Given the description of an element on the screen output the (x, y) to click on. 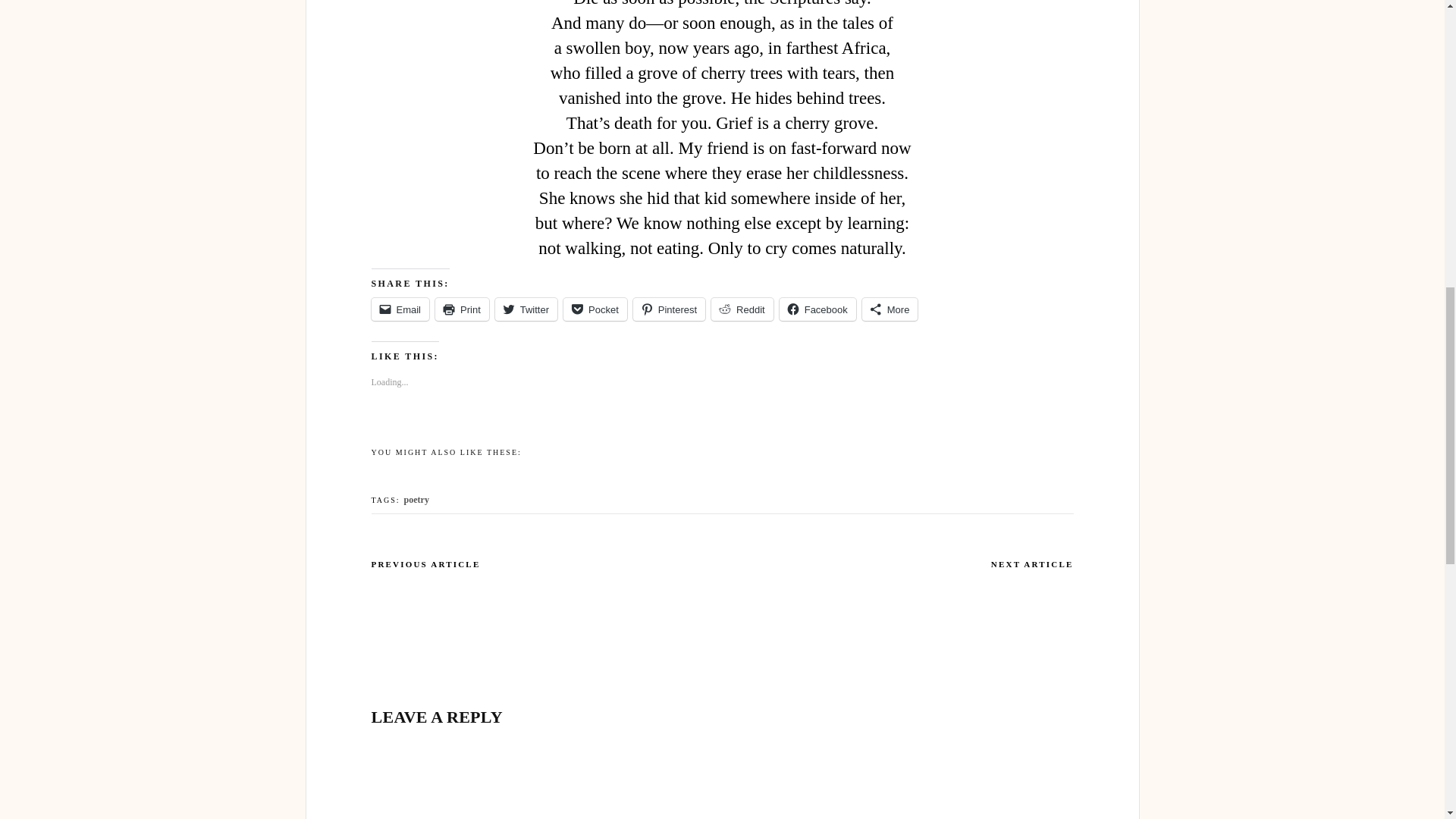
Click to share on Facebook (817, 309)
Click to share on Twitter (526, 309)
Click to share on Pocket (595, 309)
Click to print (462, 309)
Click to email a link to a friend (400, 309)
Click to share on Pinterest (668, 309)
Comment Form (722, 788)
Click to share on Reddit (742, 309)
